Given the description of an element on the screen output the (x, y) to click on. 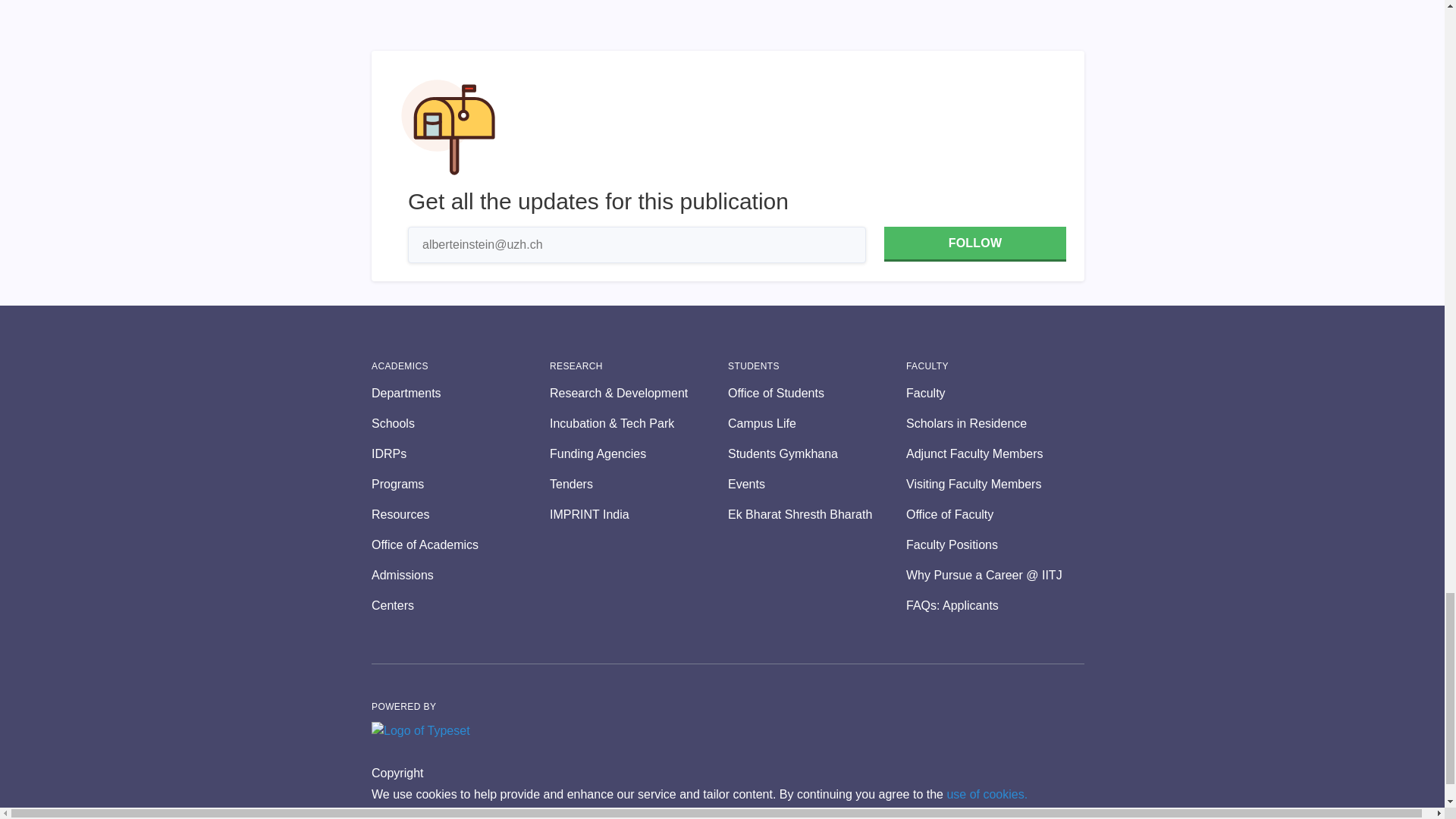
Programs (460, 484)
Funding Agencies (639, 454)
IMPRINT India (639, 515)
Resources (460, 515)
Logo of Typeset (420, 730)
FOLLOW (974, 243)
Office of Academics (460, 545)
Tenders (639, 484)
Schools (460, 423)
Students Gymkhana (816, 454)
